Given the description of an element on the screen output the (x, y) to click on. 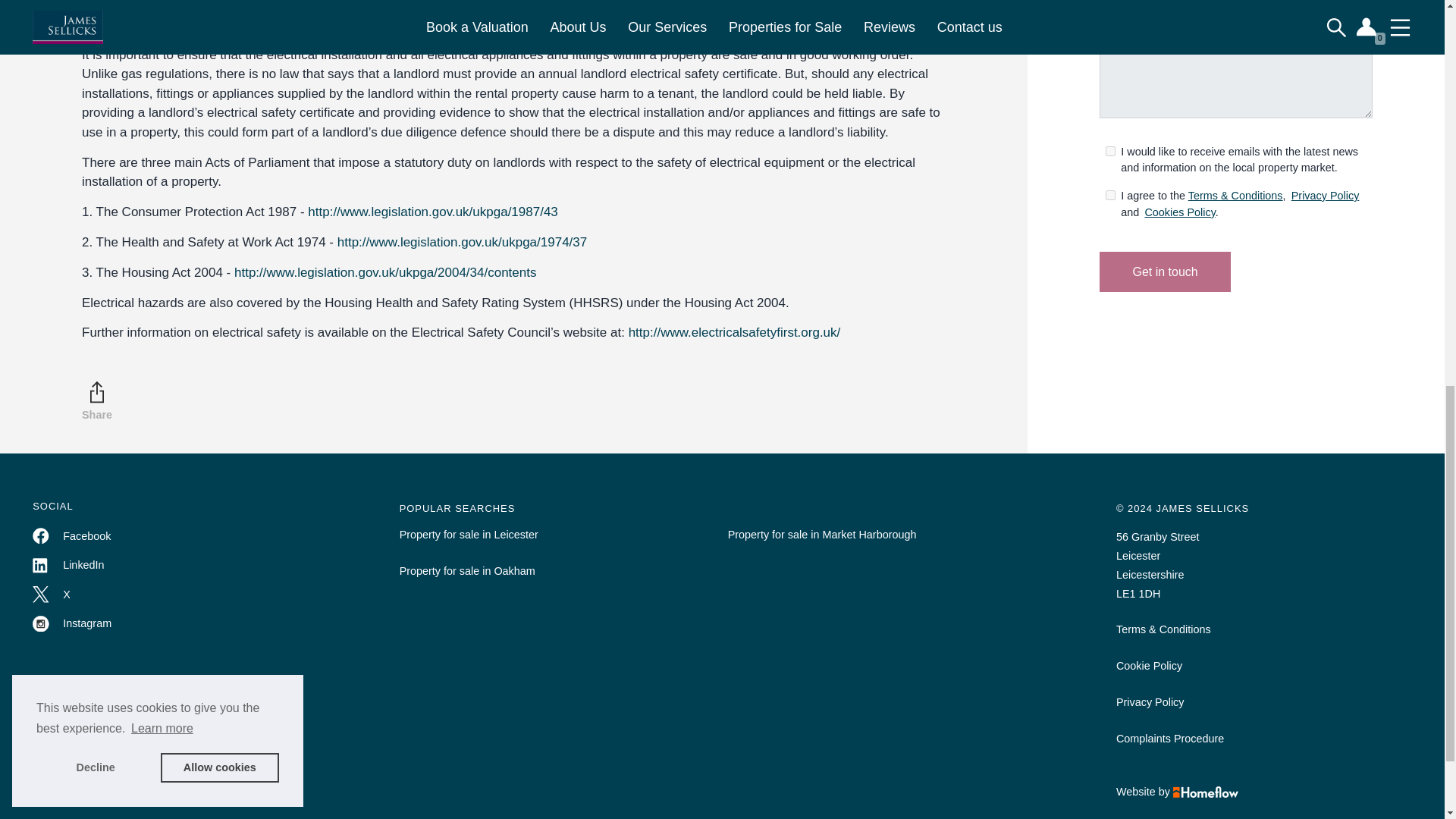
Cookies Policy (1179, 212)
on (1110, 151)
X icon (40, 594)
Privacy Policy (1325, 195)
on (1110, 194)
Get in touch (1164, 271)
